Given the description of an element on the screen output the (x, y) to click on. 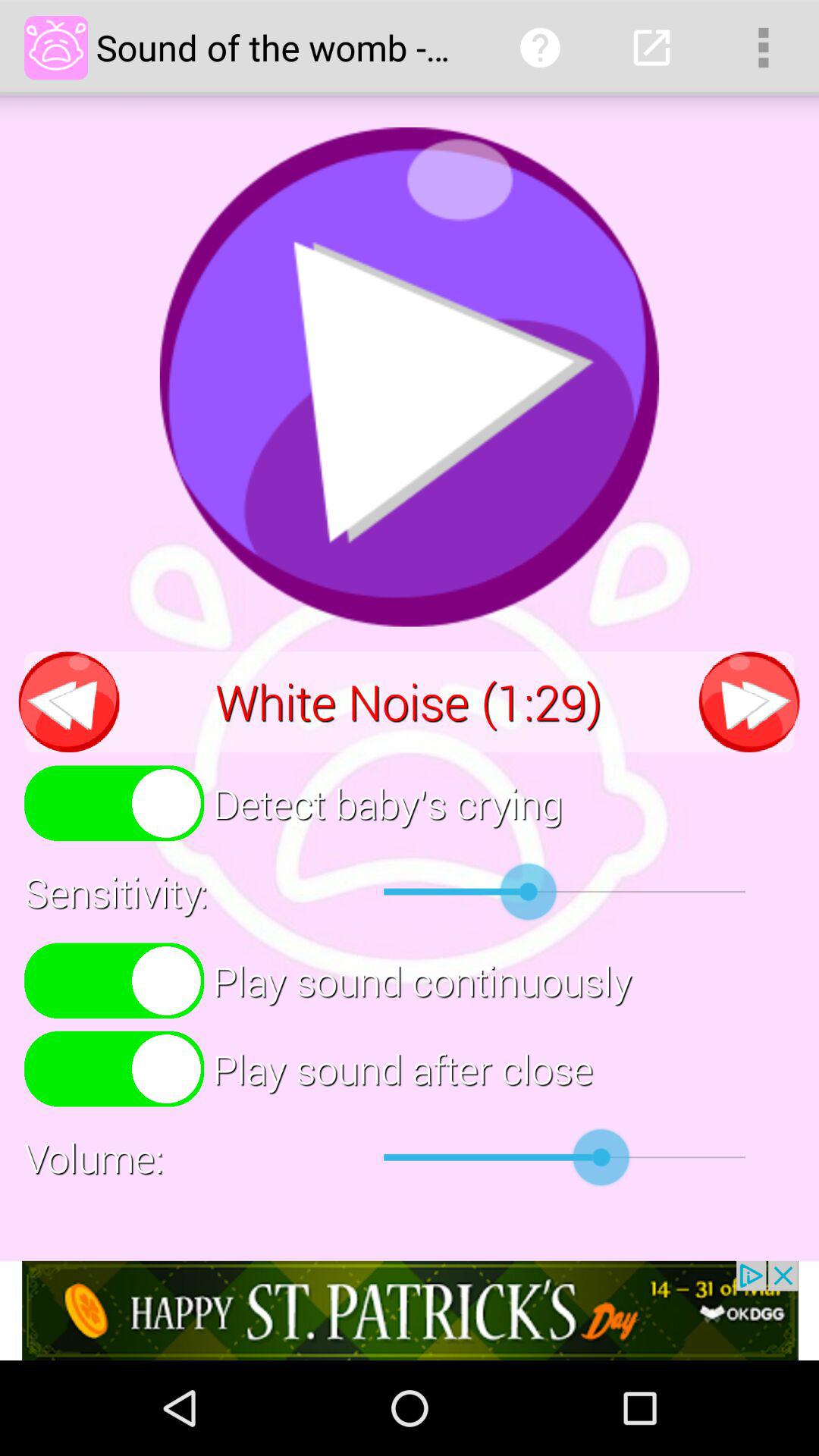
press play (409, 376)
